Given the description of an element on the screen output the (x, y) to click on. 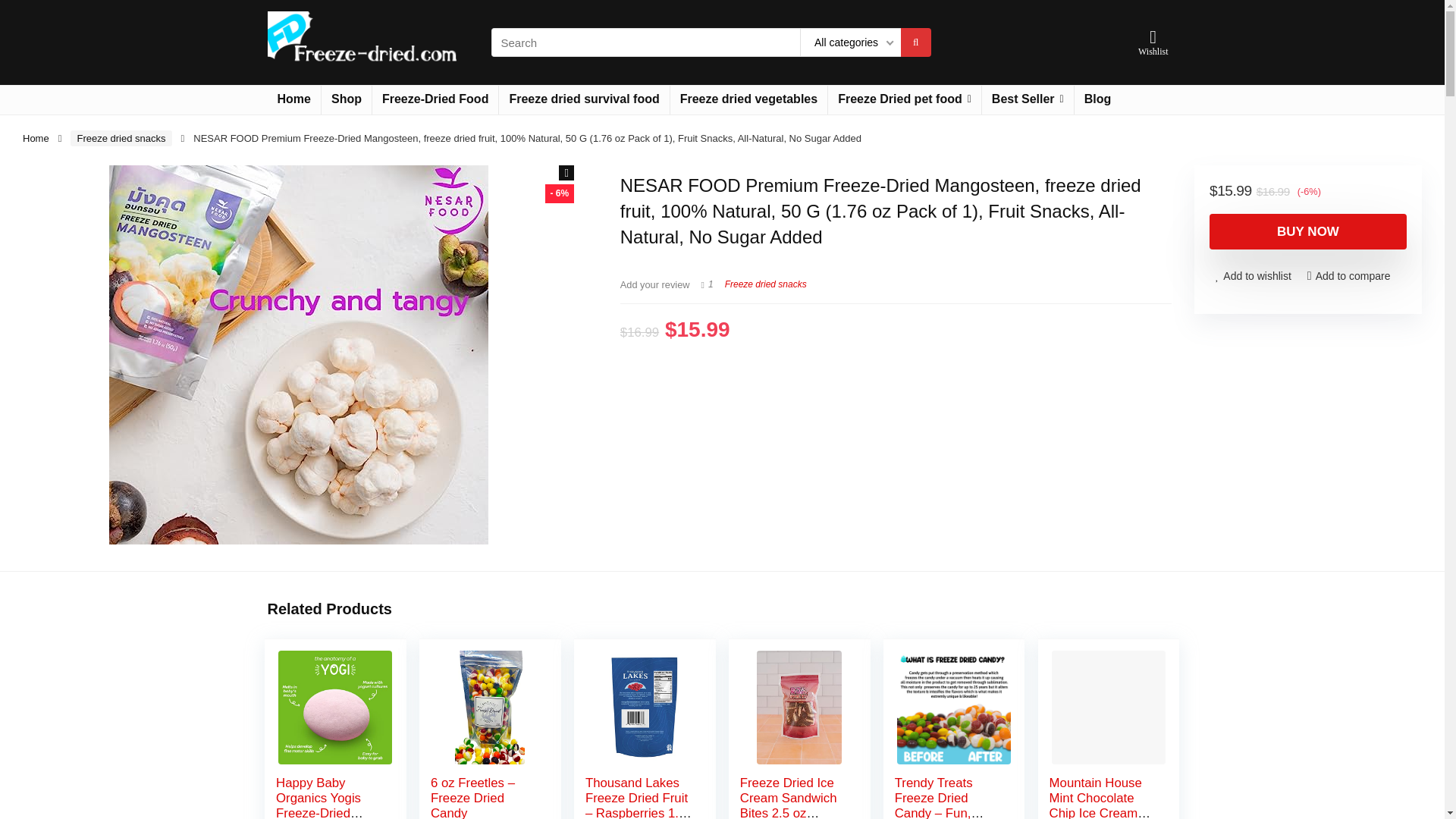
Blog (1097, 99)
Freeze dried snacks (120, 138)
Best Seller (1027, 99)
Freeze Dried pet food (904, 99)
Add your review (655, 284)
Home (293, 99)
Freeze dried vegetables (748, 99)
Freeze dried survival food (583, 99)
Freeze-Dried Food (434, 99)
View all posts in Freeze dried snacks (765, 284)
BUY NOW (1307, 231)
Shop (346, 99)
Freeze dried snacks (765, 284)
Home (36, 138)
